Given the description of an element on the screen output the (x, y) to click on. 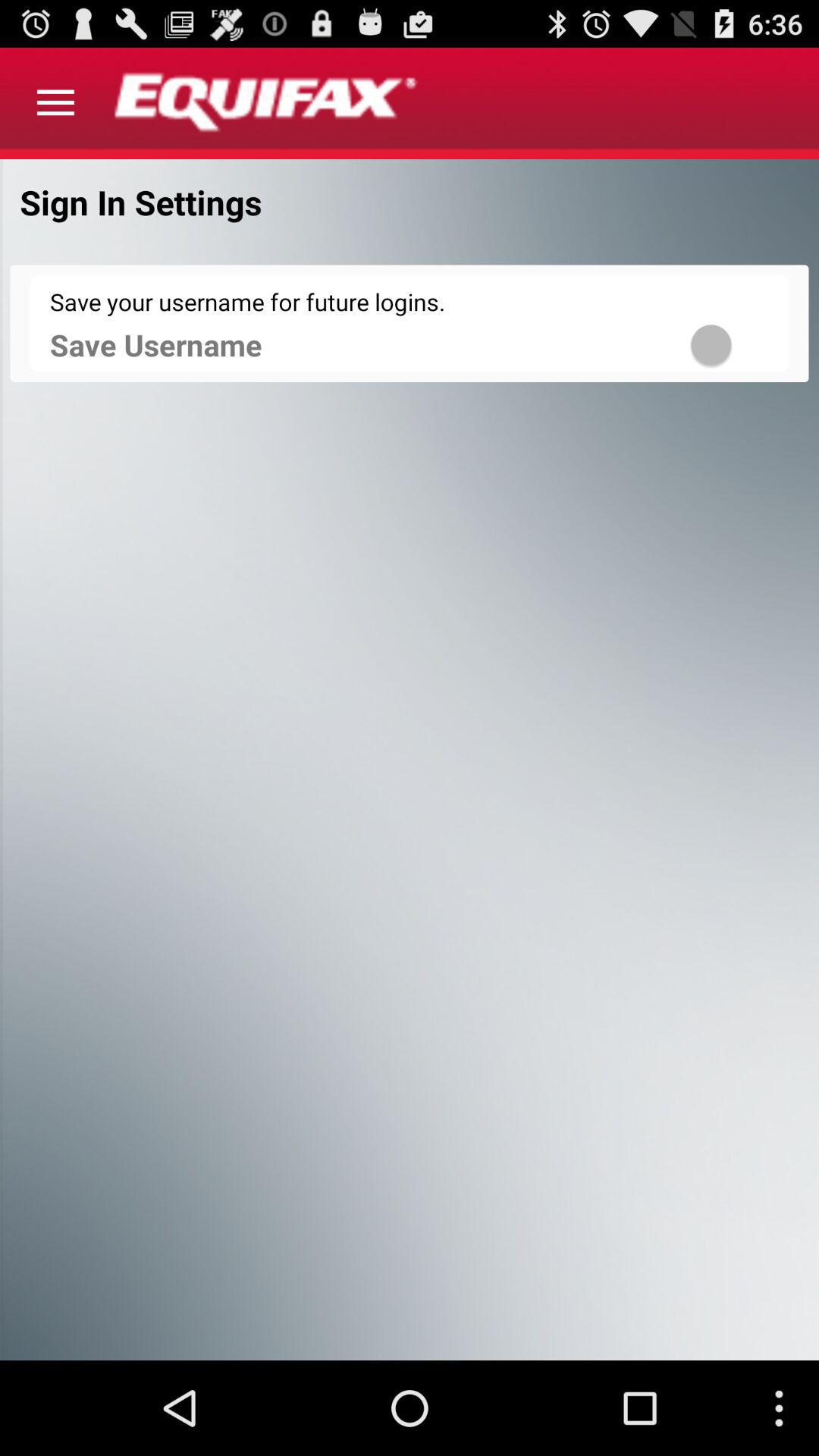
select the item to the right of save username (731, 344)
